Given the description of an element on the screen output the (x, y) to click on. 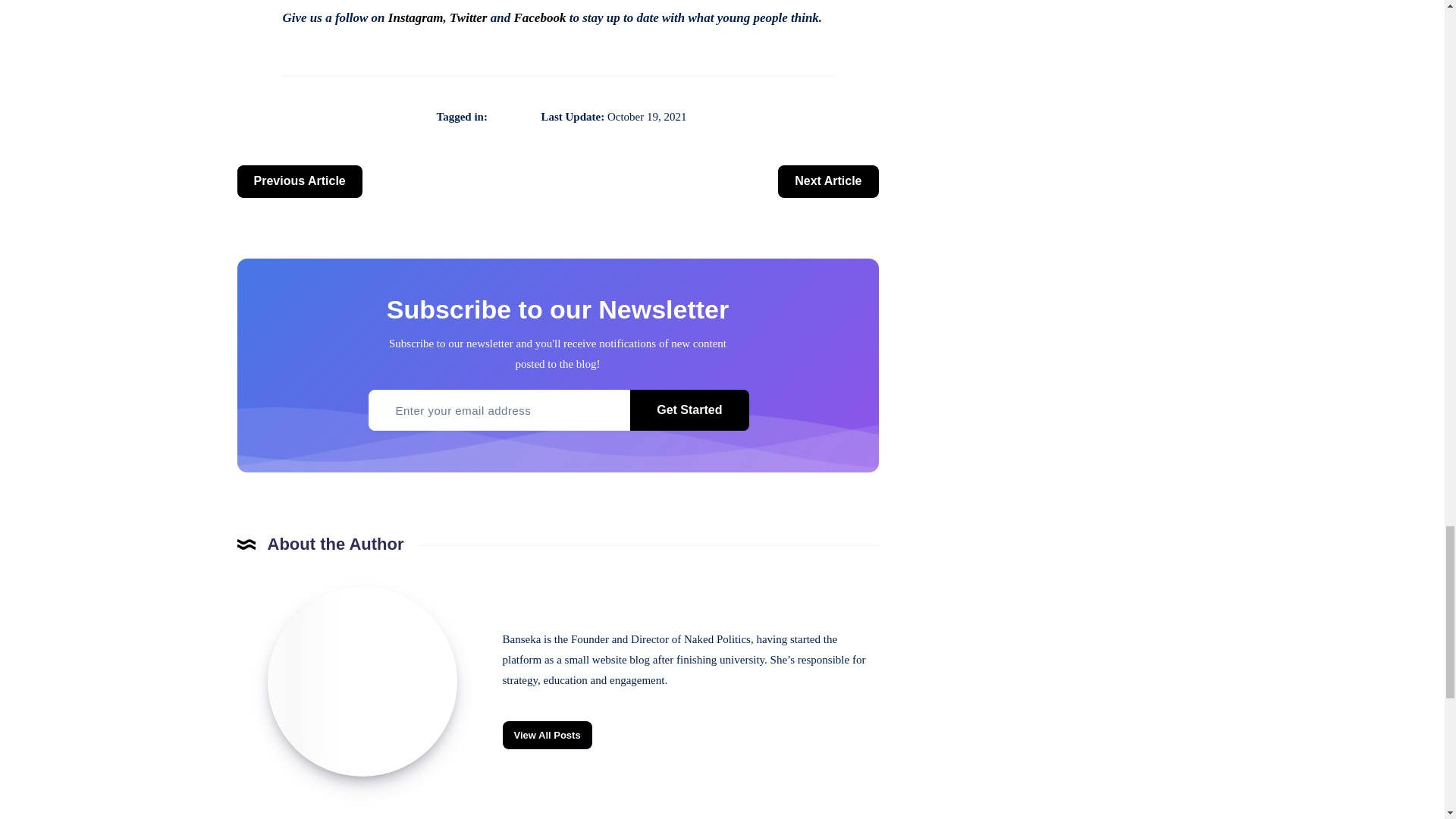
View All Posts (546, 735)
Next Article (827, 181)
Instagram (416, 17)
Facebook (539, 17)
Get Started (689, 409)
Previous Article (298, 181)
Twitter (467, 17)
